Given the description of an element on the screen output the (x, y) to click on. 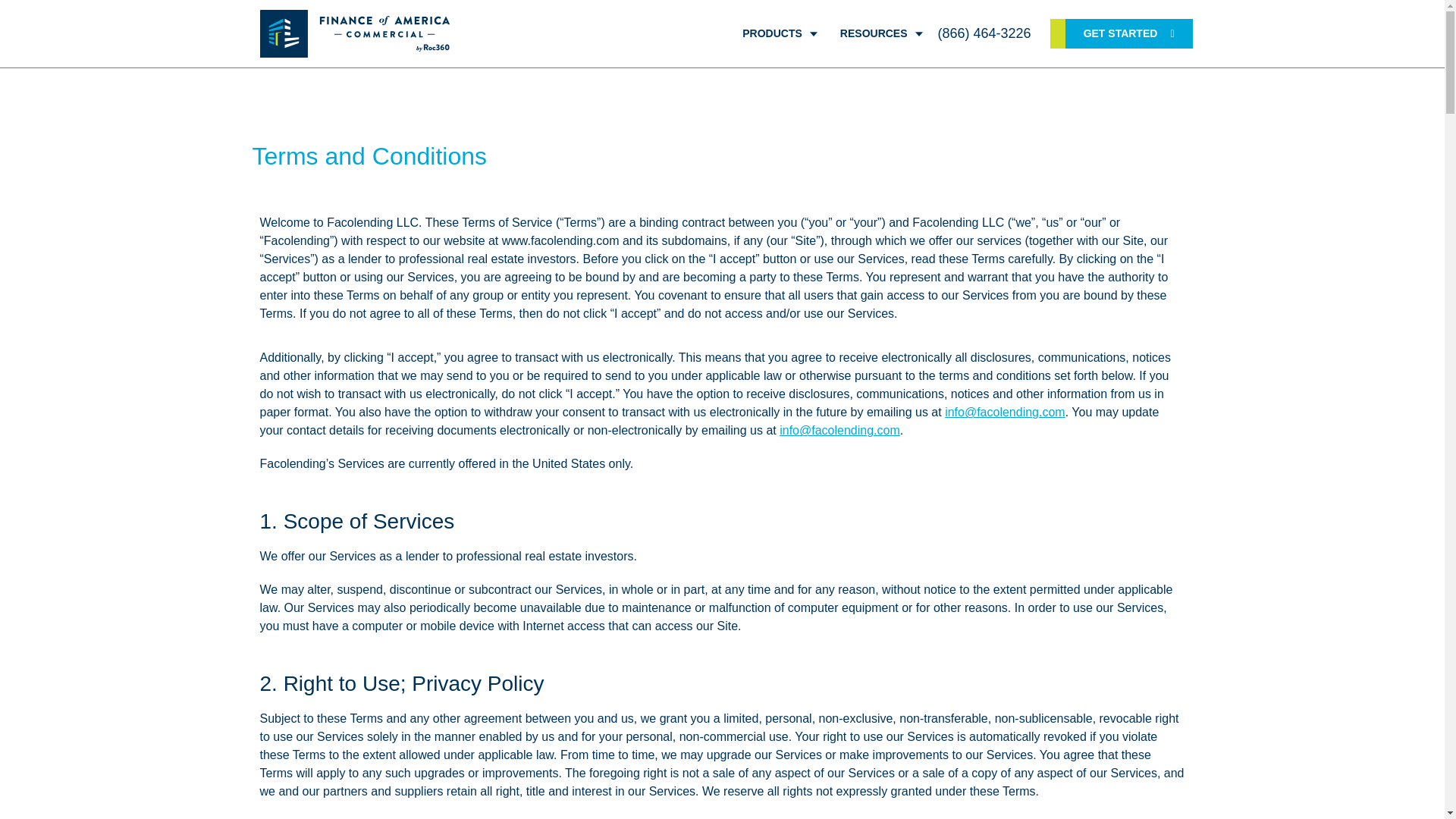
PRODUCTS (779, 33)
RESOURCES (881, 33)
GET STARTED (1120, 33)
